Given the description of an element on the screen output the (x, y) to click on. 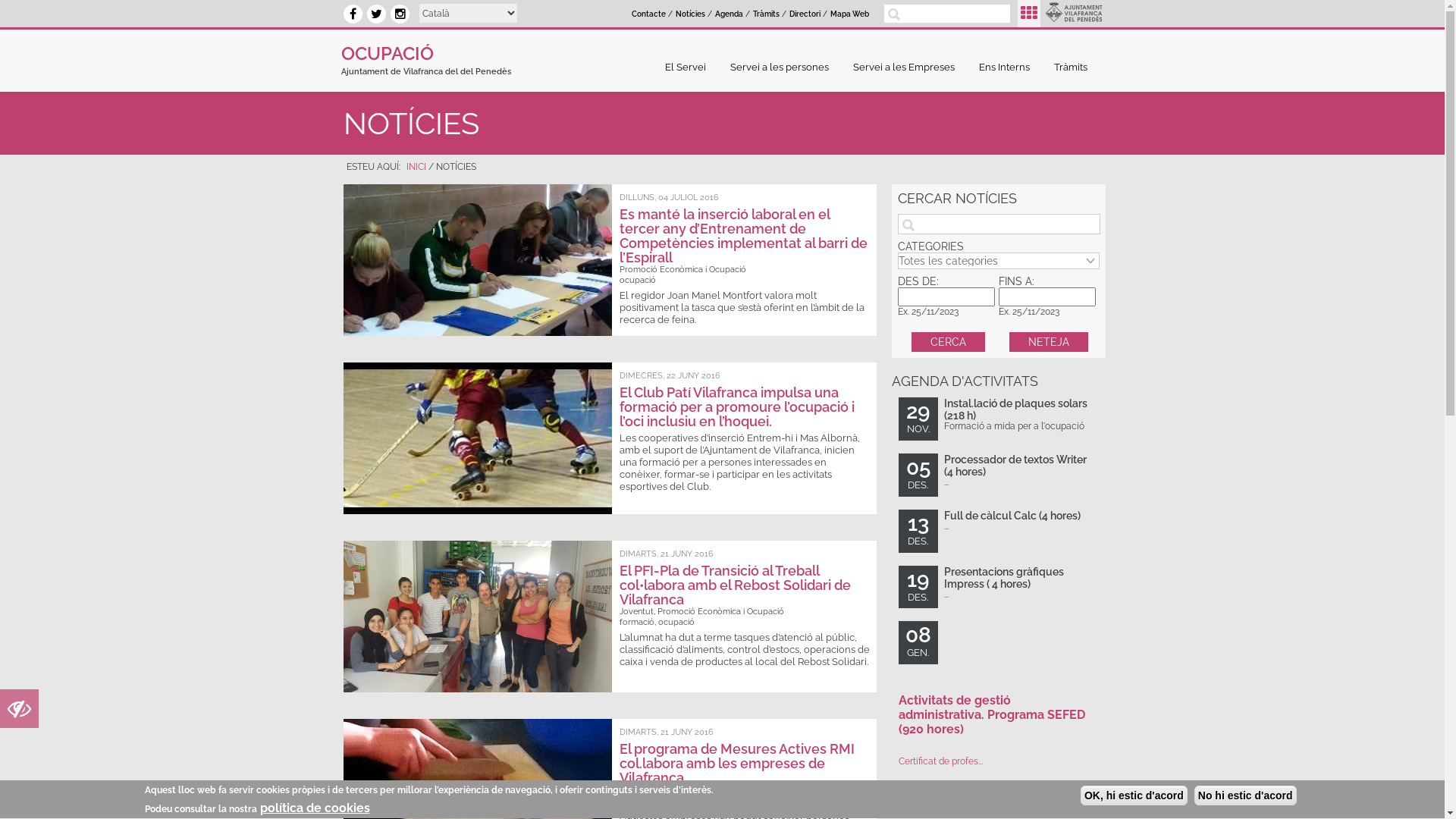
Servei a les persones Element type: text (783, 66)
08
GEN. Element type: text (997, 643)
Agenda Element type: text (729, 14)
Mapa Web Element type: text (849, 14)
Servei a les Empreses Element type: text (907, 66)
Directori Element type: text (804, 14)
Contacte Element type: text (648, 14)
Cerca Element type: text (948, 341)
Accessibilitat Element type: hover (19, 712)
El Servei Element type: text (689, 66)
INICI Element type: text (416, 166)
05
DES.
Processador de textos Writer (4 hores)
... Element type: text (997, 475)
Ens Interns Element type: text (1008, 66)
Neteja Element type: text (1048, 341)
